Given the description of an element on the screen output the (x, y) to click on. 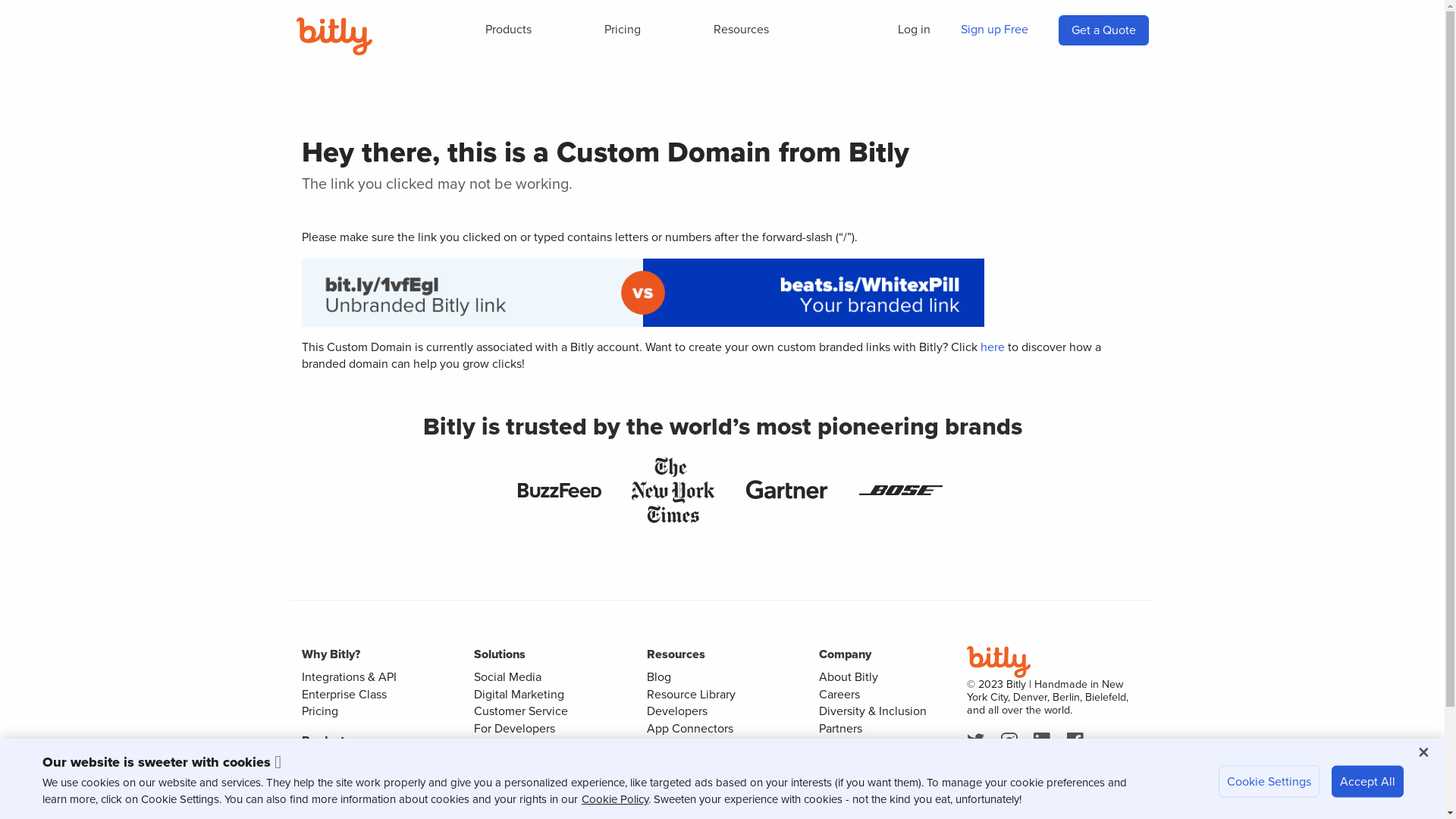
here Element type: text (991, 346)
Cookie Settings Element type: text (1268, 781)
Partners Element type: text (840, 728)
twitter Element type: text (977, 742)
Cookie Policy Element type: text (614, 798)
Contact Element type: text (839, 761)
Integrations & API Element type: text (348, 676)
App Connectors Element type: text (689, 728)
Resources Element type: text (741, 29)
For Developers Element type: text (514, 728)
Accept All Element type: text (1367, 781)
Sign up Free Element type: text (993, 29)
Resource Library Element type: text (690, 693)
Social Media Element type: text (507, 676)
Mobile App Element type: text (676, 795)
About Bitly Element type: text (848, 676)
Facebook Element type: text (1077, 742)
Pricing Element type: text (319, 710)
Careers Element type: text (839, 693)
Support Element type: text (666, 744)
Browser Extension Element type: text (695, 778)
Branded Links Element type: text (511, 779)
Customer Service Element type: text (520, 710)
Developers Element type: text (676, 710)
Reviews Element type: text (841, 778)
Pricing Element type: text (622, 29)
Digital Marketing Element type: text (518, 693)
Enterprise Class Element type: text (343, 693)
Link Management Element type: text (348, 762)
Mobile Links Element type: text (506, 797)
linkedin Element type: text (1044, 742)
Log in Element type: text (913, 29)
Trust Center Element type: text (678, 761)
Get a Quote Element type: text (1102, 29)
Blog Element type: text (658, 676)
QR Codes Element type: text (328, 779)
Press Element type: text (833, 744)
Products Element type: text (508, 29)
Diversity & Inclusion Element type: text (872, 710)
Link-in-bio Element type: text (329, 797)
